Given the description of an element on the screen output the (x, y) to click on. 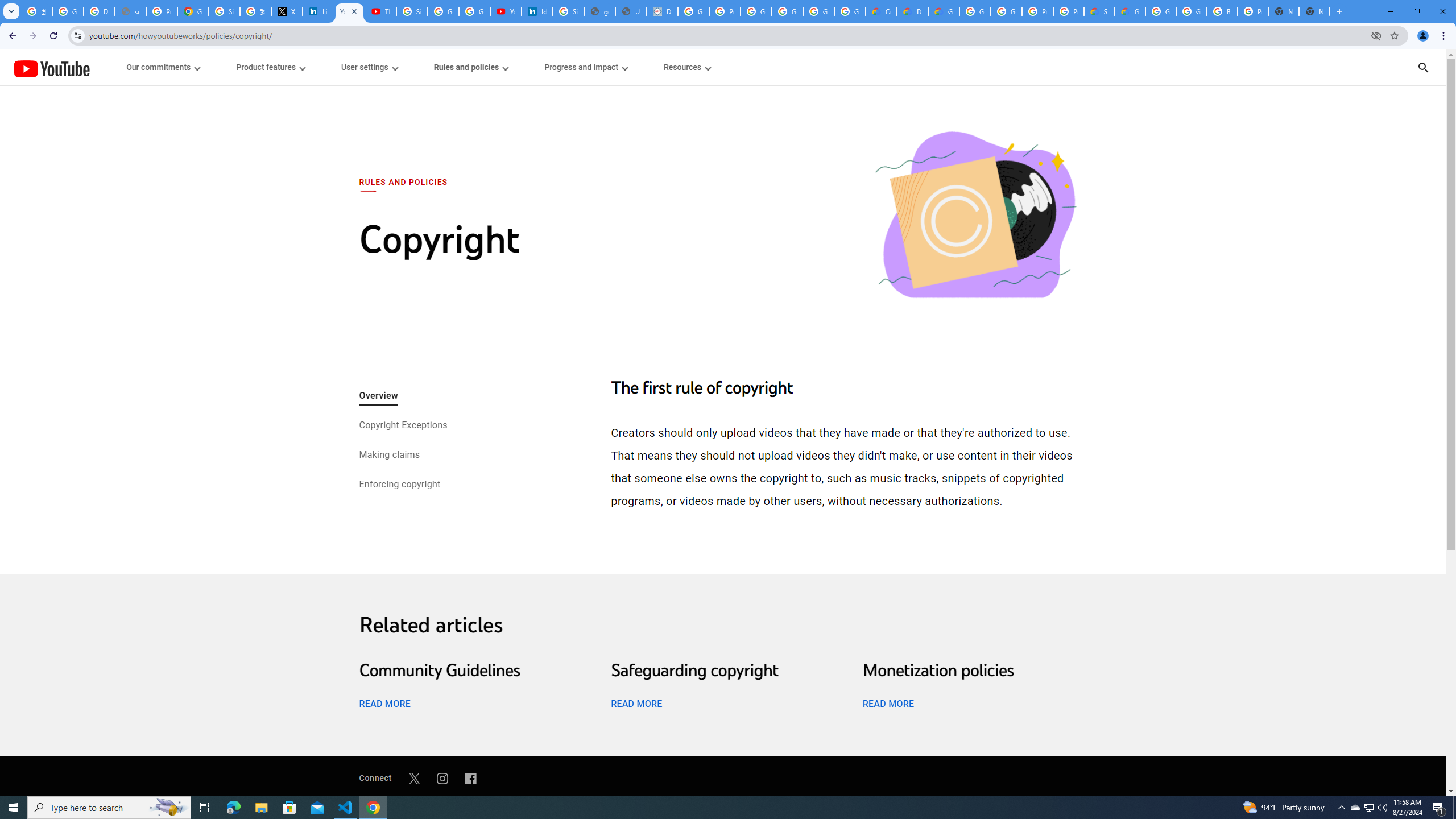
Progress and impact menupopup (585, 67)
YouTube Copyright Rules & Policies - How YouTube Works (349, 11)
LinkedIn Privacy Policy (318, 11)
Enforcing copyright (399, 484)
support.google.com - Network error (130, 11)
User settings menupopup (368, 67)
User Details (631, 11)
Rules and policies menupopup (470, 67)
Support Hub | Google Cloud (1098, 11)
YouTube (51, 68)
Play (723, 469)
